Given the description of an element on the screen output the (x, y) to click on. 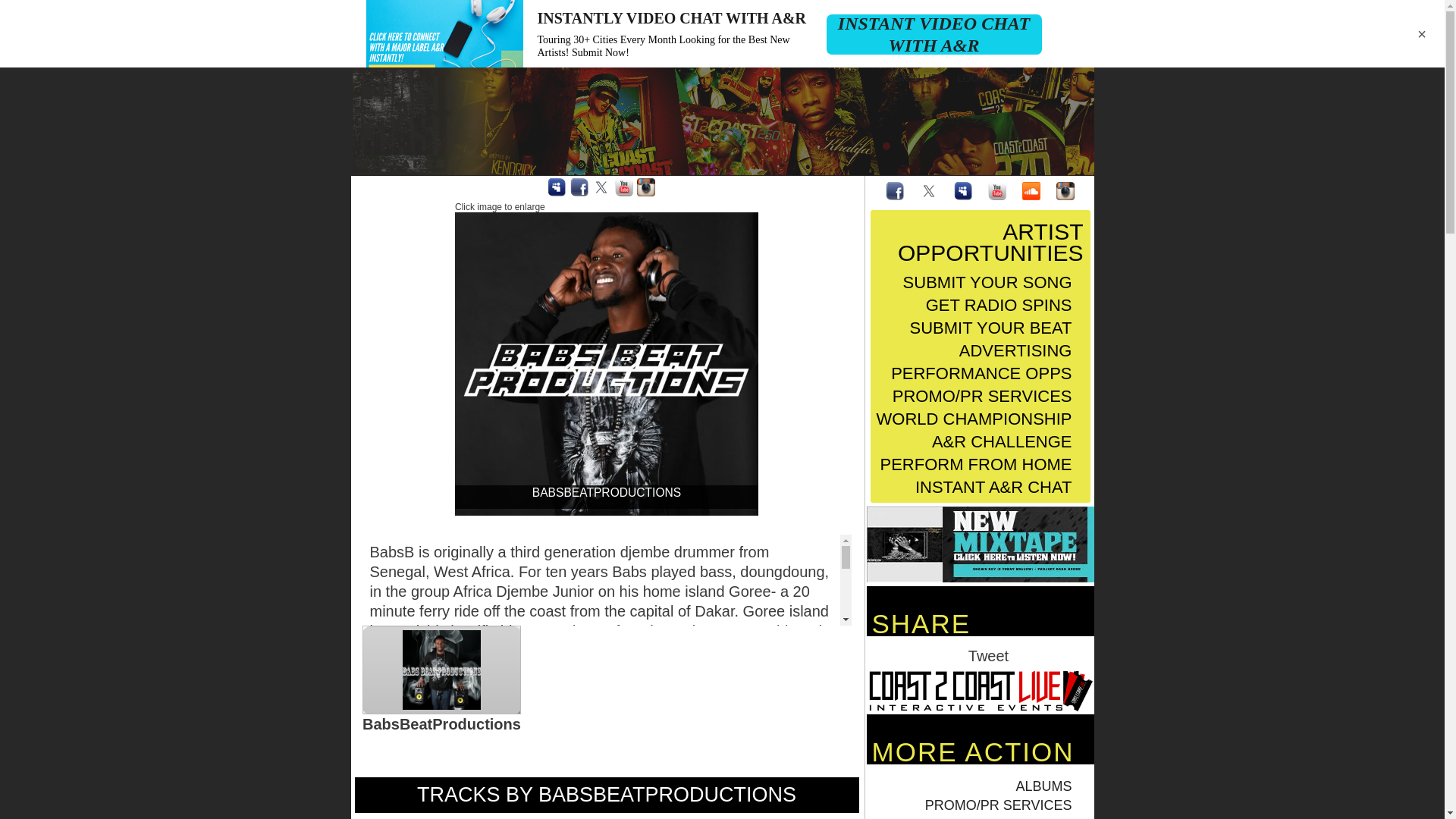
GO PREMIUM (1044, 77)
LOGIN (973, 77)
BABSBEATPRODUCTIONS (606, 363)
SIGN UP (916, 77)
